Given the description of an element on the screen output the (x, y) to click on. 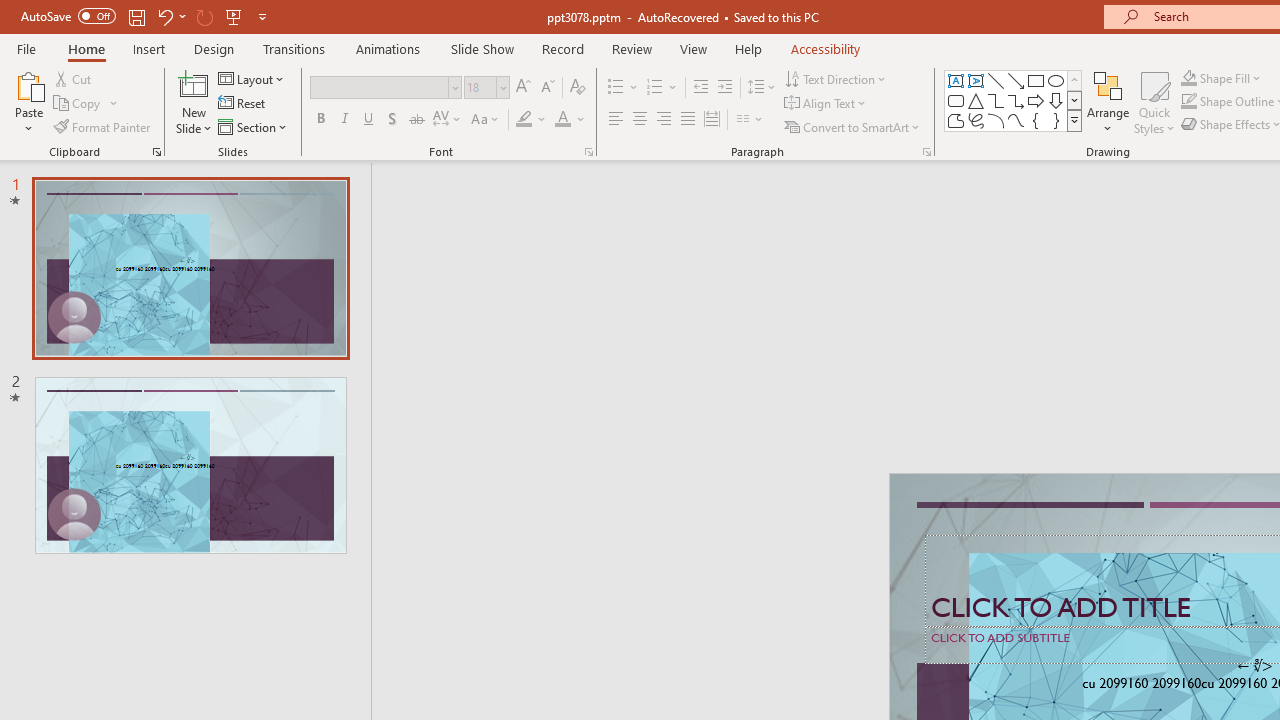
Underline (369, 119)
